Given the description of an element on the screen output the (x, y) to click on. 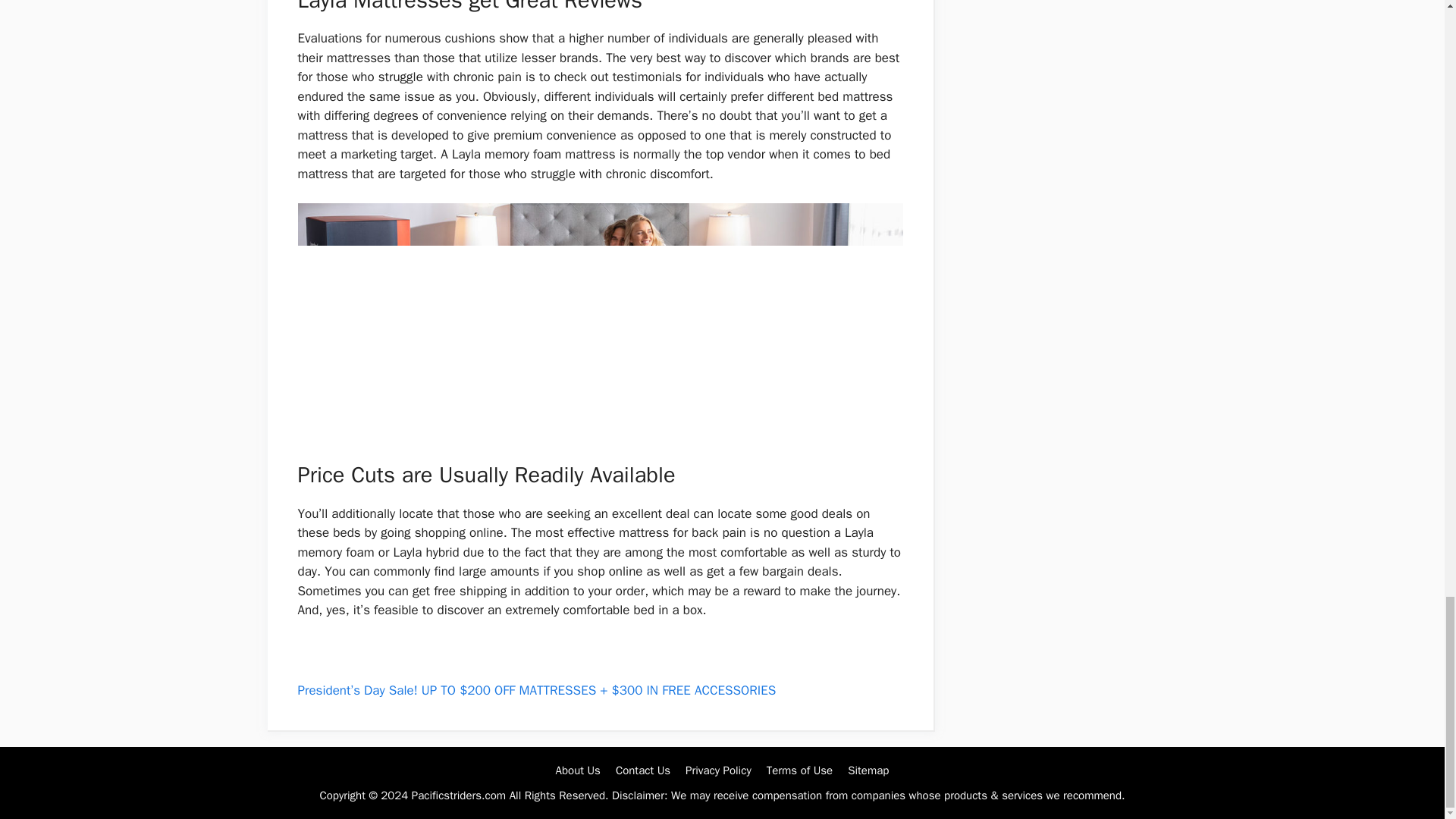
Sitemap (867, 770)
Contact Us (642, 770)
Terms of Use (799, 770)
About Us (577, 770)
Privacy Policy (718, 770)
